Given the description of an element on the screen output the (x, y) to click on. 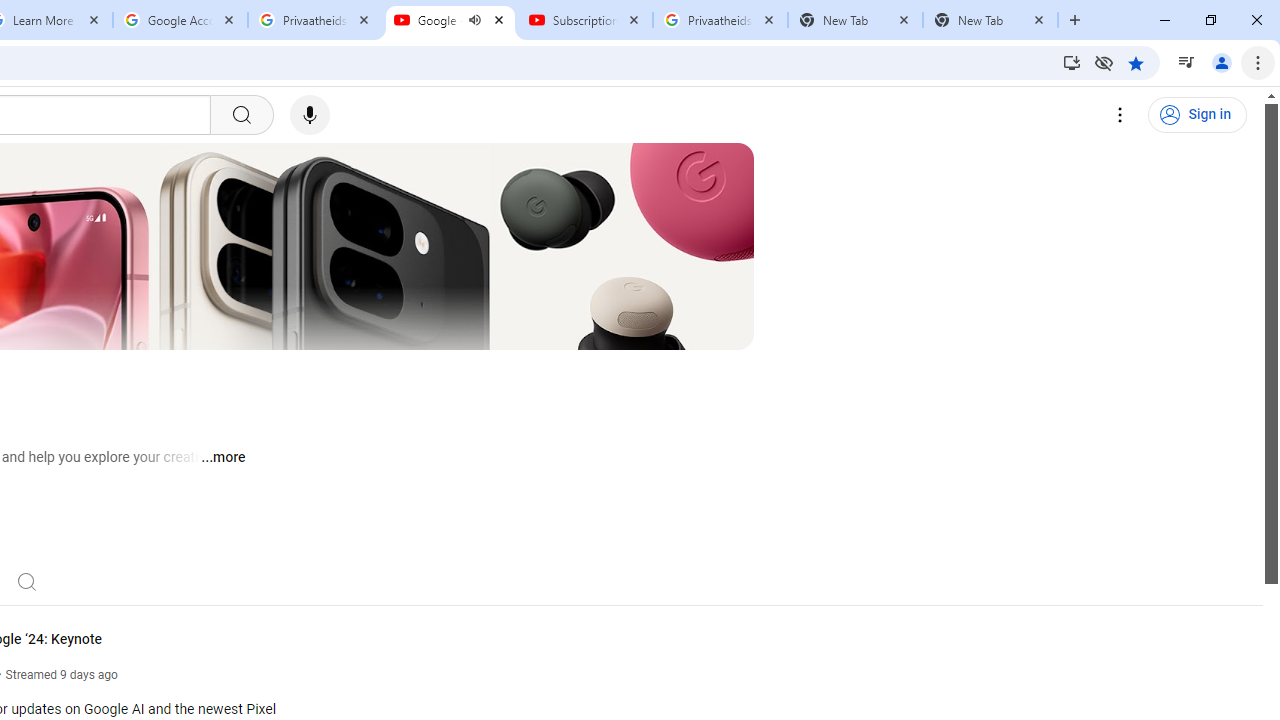
Search with your voice (309, 115)
New Tab (990, 20)
Google - YouTube - Audio playing (450, 20)
